Given the description of an element on the screen output the (x, y) to click on. 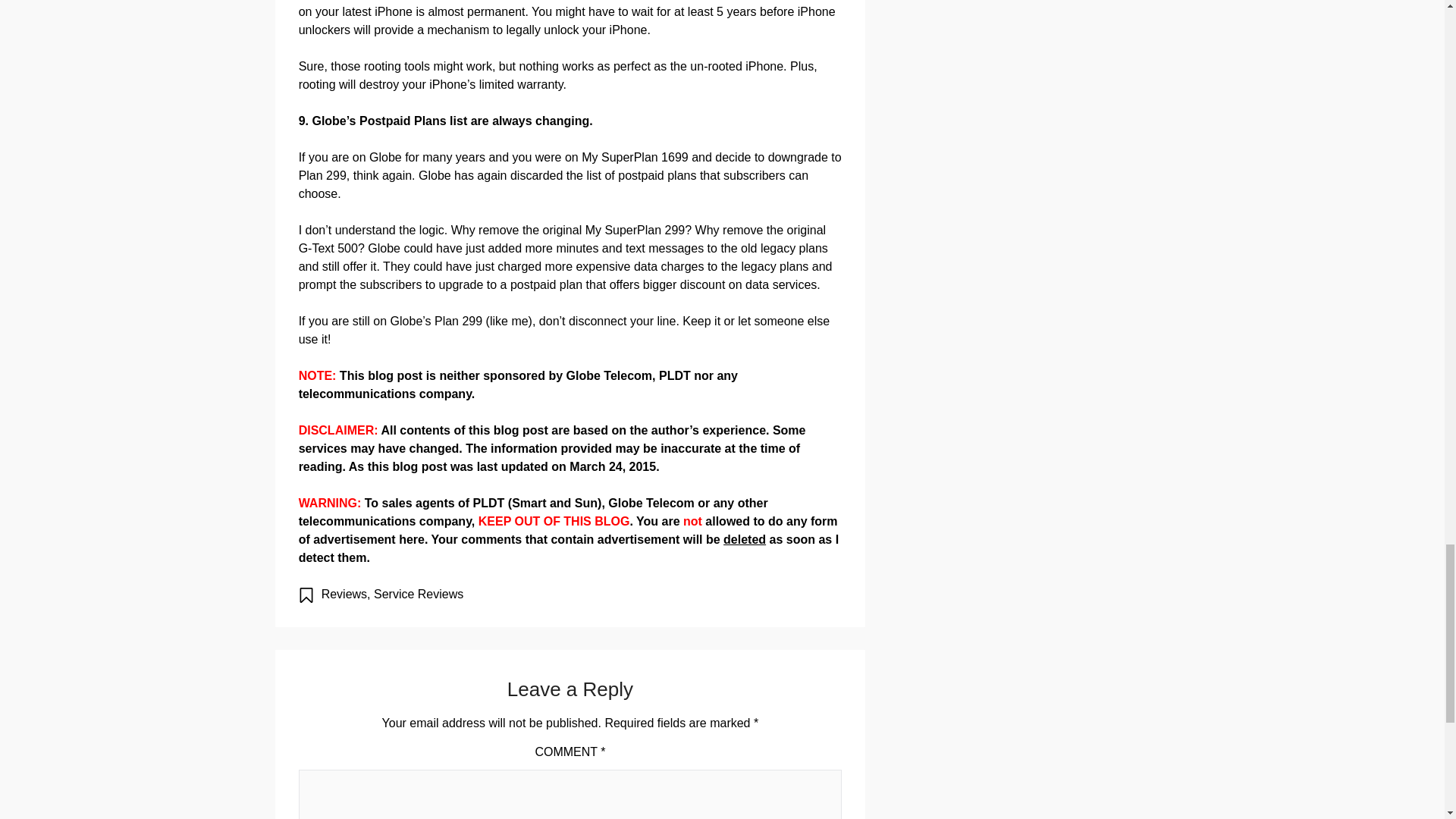
Reviews (343, 594)
Service Reviews (418, 594)
